Given the description of an element on the screen output the (x, y) to click on. 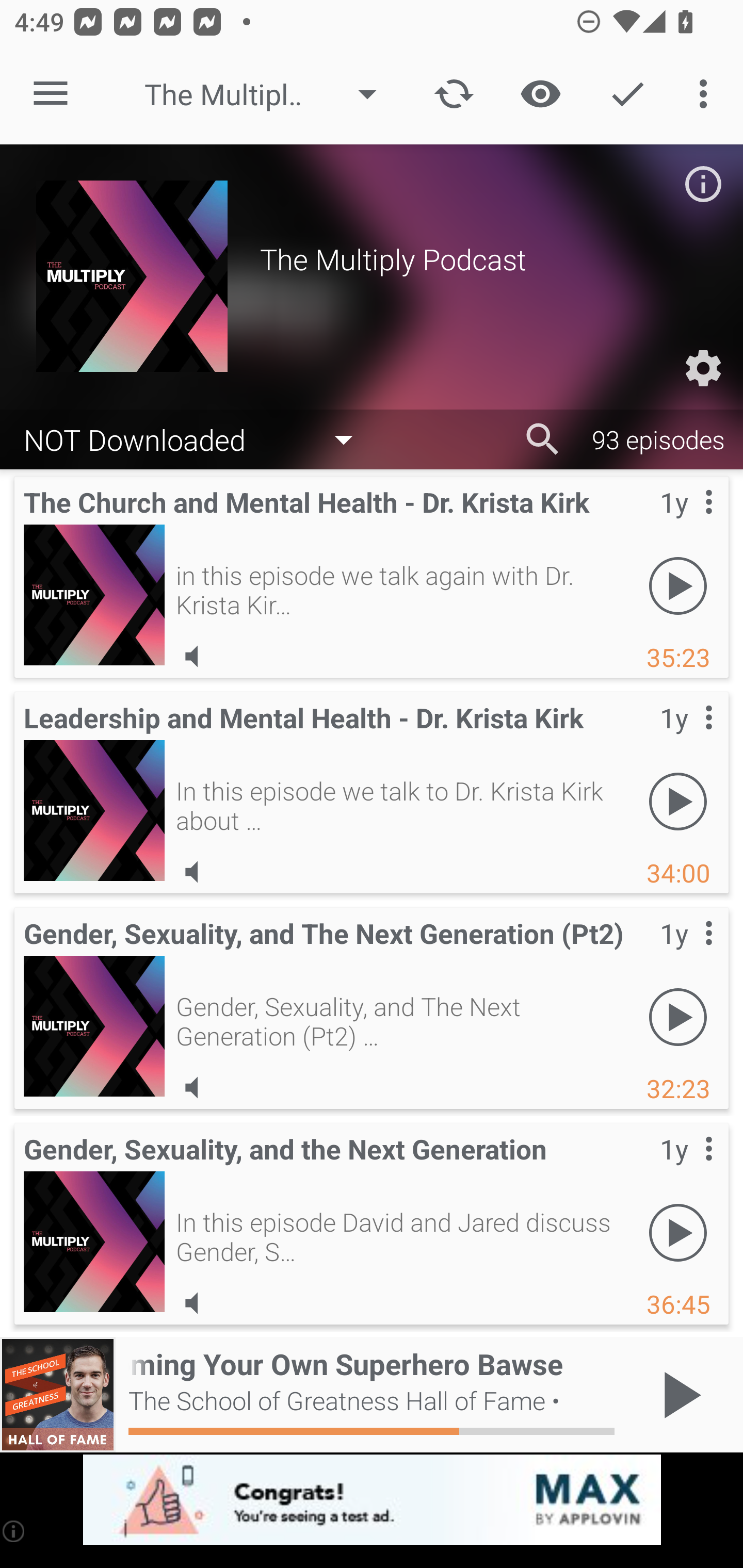
Open navigation sidebar (50, 93)
Update (453, 93)
Show / Hide played content (540, 93)
Action Mode (626, 93)
More options (706, 93)
The Multiply Podcast (270, 94)
Podcast description (703, 184)
Custom Settings (703, 368)
Search (542, 439)
NOT Downloaded (197, 438)
Contextual menu (685, 522)
The Church and Mental Health - Dr. Krista Kirk (93, 594)
Play (677, 585)
Contextual menu (685, 738)
Leadership and Mental Health - Dr. Krista Kirk (93, 810)
Play (677, 801)
Contextual menu (685, 954)
Gender, Sexuality, and The Next Generation (Pt2) (93, 1026)
Play (677, 1016)
Contextual menu (685, 1169)
Gender, Sexuality, and the Next Generation (93, 1241)
Play (677, 1232)
Play / Pause (677, 1394)
app-monetization (371, 1500)
(i) (14, 1531)
